Given the description of an element on the screen output the (x, y) to click on. 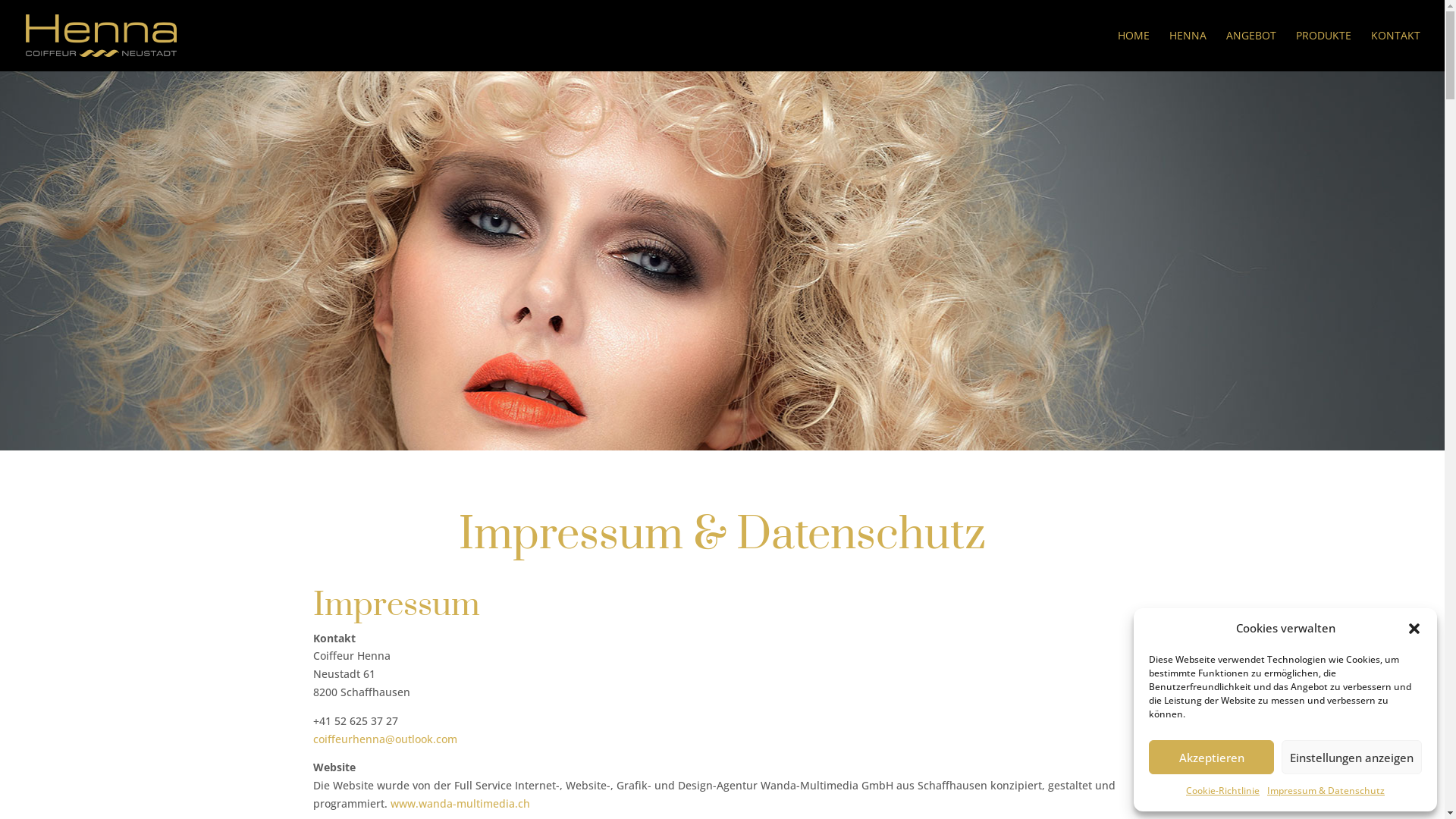
coiffeurhenna@outlook.com Element type: text (384, 738)
www.wanda-multimedia.ch Element type: text (459, 803)
Einstellungen anzeigen Element type: text (1351, 757)
PRODUKTE Element type: text (1323, 50)
ANGEBOT Element type: text (1251, 50)
Akzeptieren Element type: text (1211, 757)
HOME Element type: text (1133, 50)
Impressum & Datenschutz Element type: text (1325, 790)
KONTAKT Element type: text (1395, 50)
Cookie-Richtlinie Element type: text (1222, 790)
HENNA Element type: text (1187, 50)
